Given the description of an element on the screen output the (x, y) to click on. 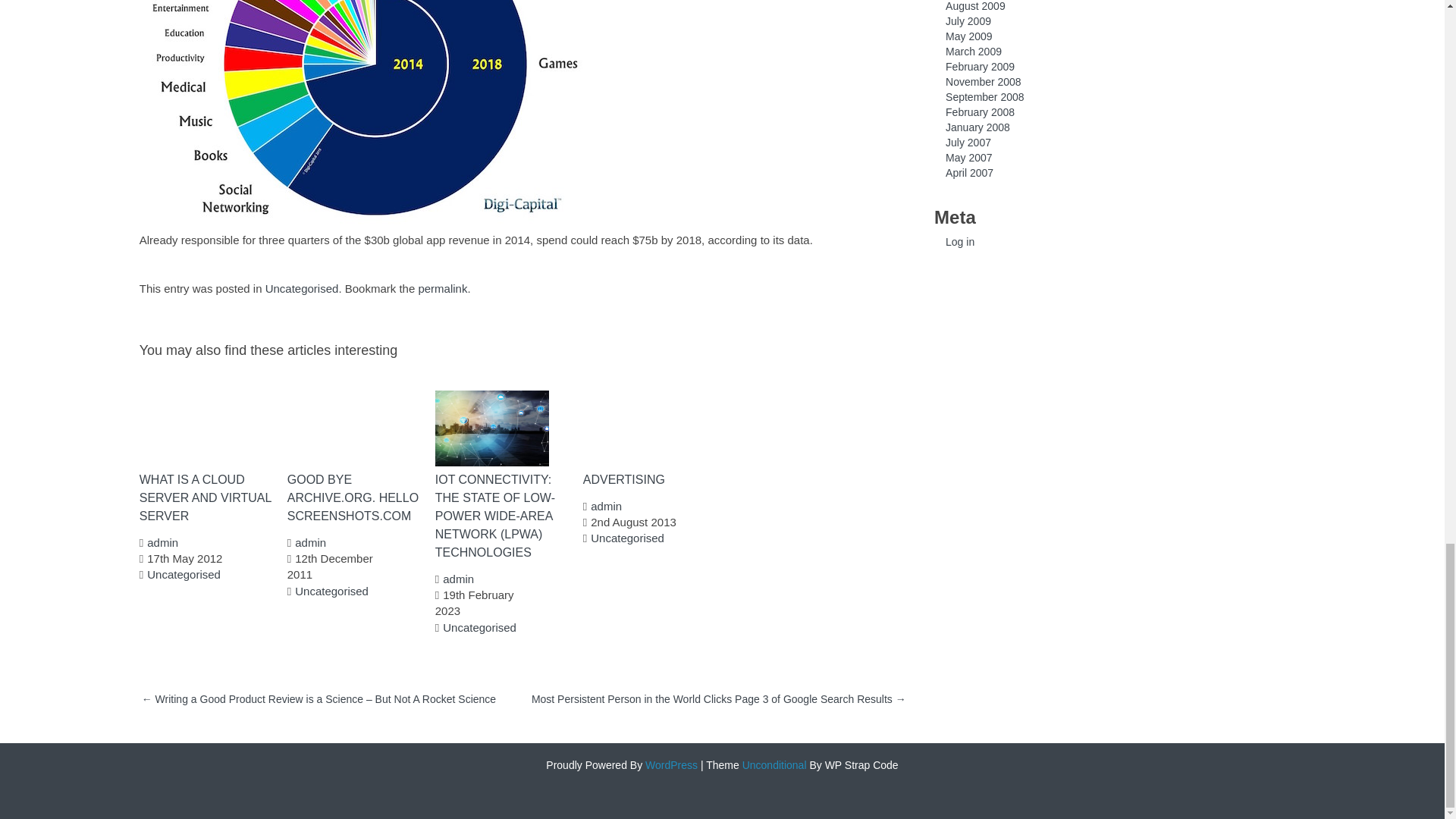
admin (162, 542)
Uncategorised (331, 590)
Uncategorised (627, 537)
Uncategorised (479, 626)
Uncategorised (301, 287)
ADVERTISING (651, 479)
admin (310, 542)
admin (458, 578)
WHAT IS A CLOUD SERVER AND VIRTUAL SERVER (207, 497)
GOOD BYE ARCHIVE.ORG. HELLO SCREENSHOTS.COM (354, 497)
admin (606, 505)
Uncategorised (184, 574)
permalink (442, 287)
